Given the description of an element on the screen output the (x, y) to click on. 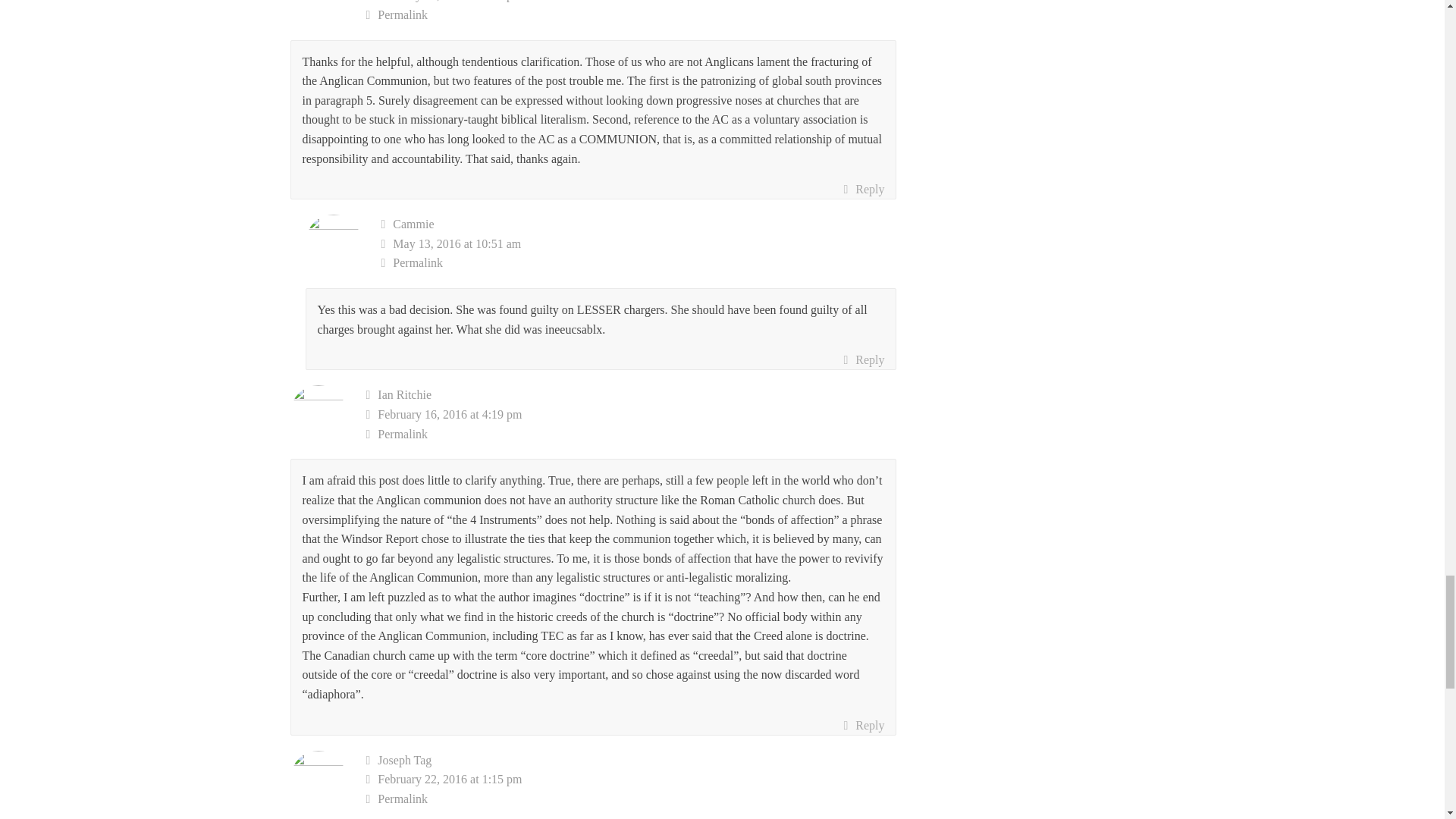
Reply (863, 189)
Reply (863, 725)
Permalink (638, 262)
Permalink (630, 799)
Permalink (630, 434)
Cammie (413, 223)
Permalink (630, 14)
Reply (863, 360)
